Given the description of an element on the screen output the (x, y) to click on. 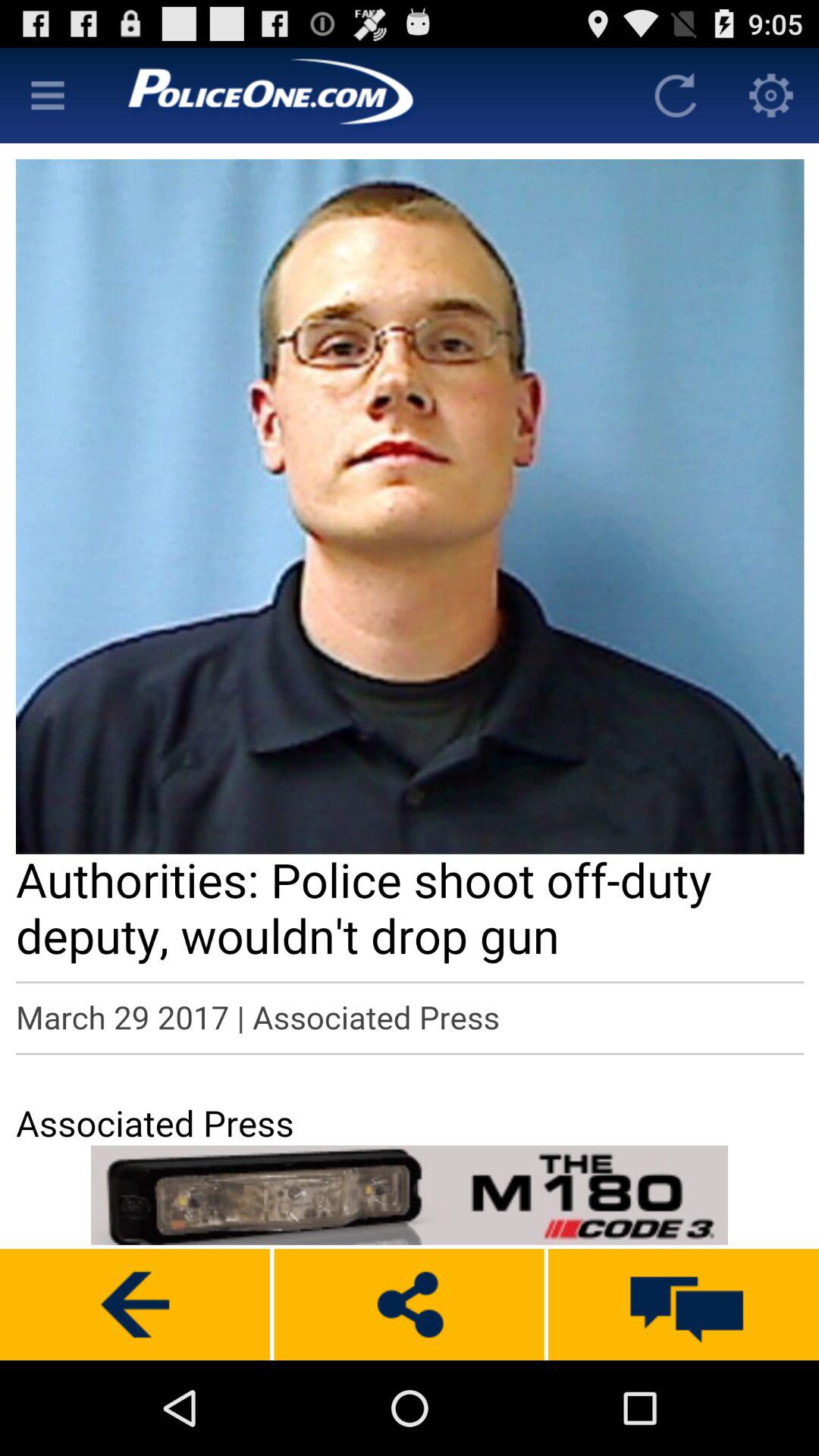
go back (135, 1304)
